Given the description of an element on the screen output the (x, y) to click on. 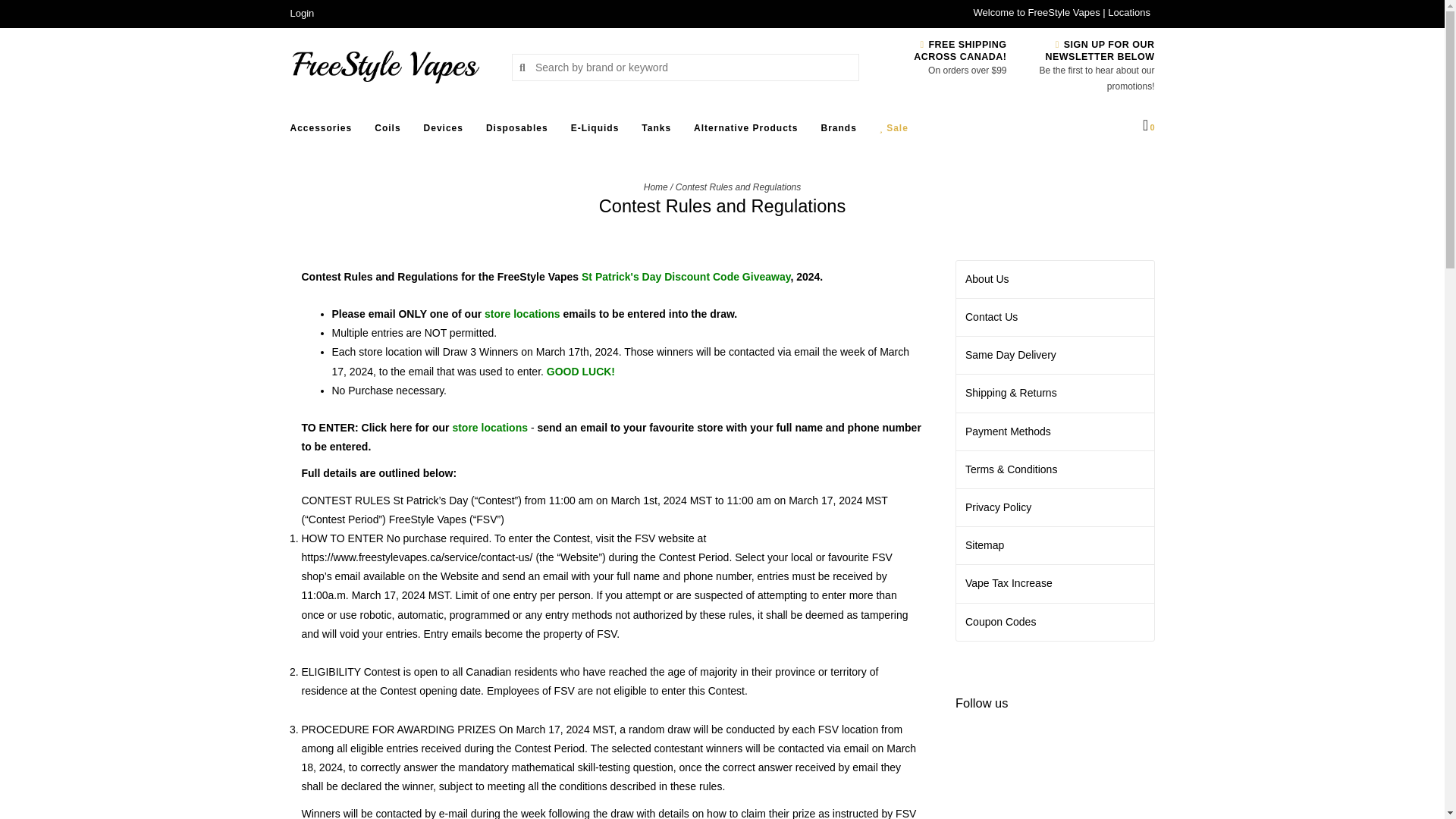
Devices (446, 132)
Coils (390, 132)
E-Liquids (598, 132)
Alternative Products (749, 132)
Disposables (521, 132)
Accessories (324, 132)
Tanks (660, 132)
Devices (446, 132)
Disposables (521, 132)
Coils (390, 132)
